Given the description of an element on the screen output the (x, y) to click on. 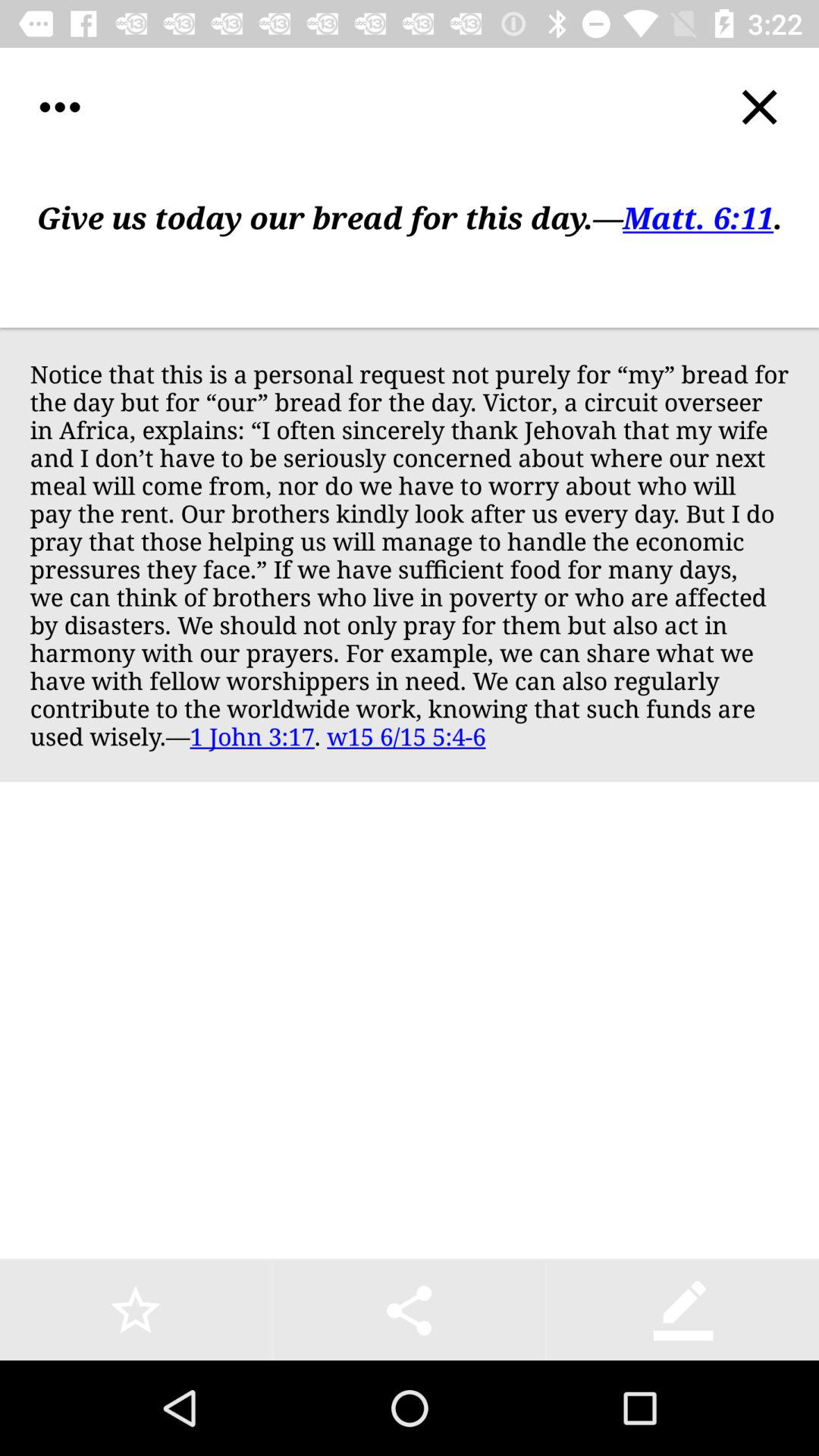
turn on icon at the top left corner (59, 107)
